Given the description of an element on the screen output the (x, y) to click on. 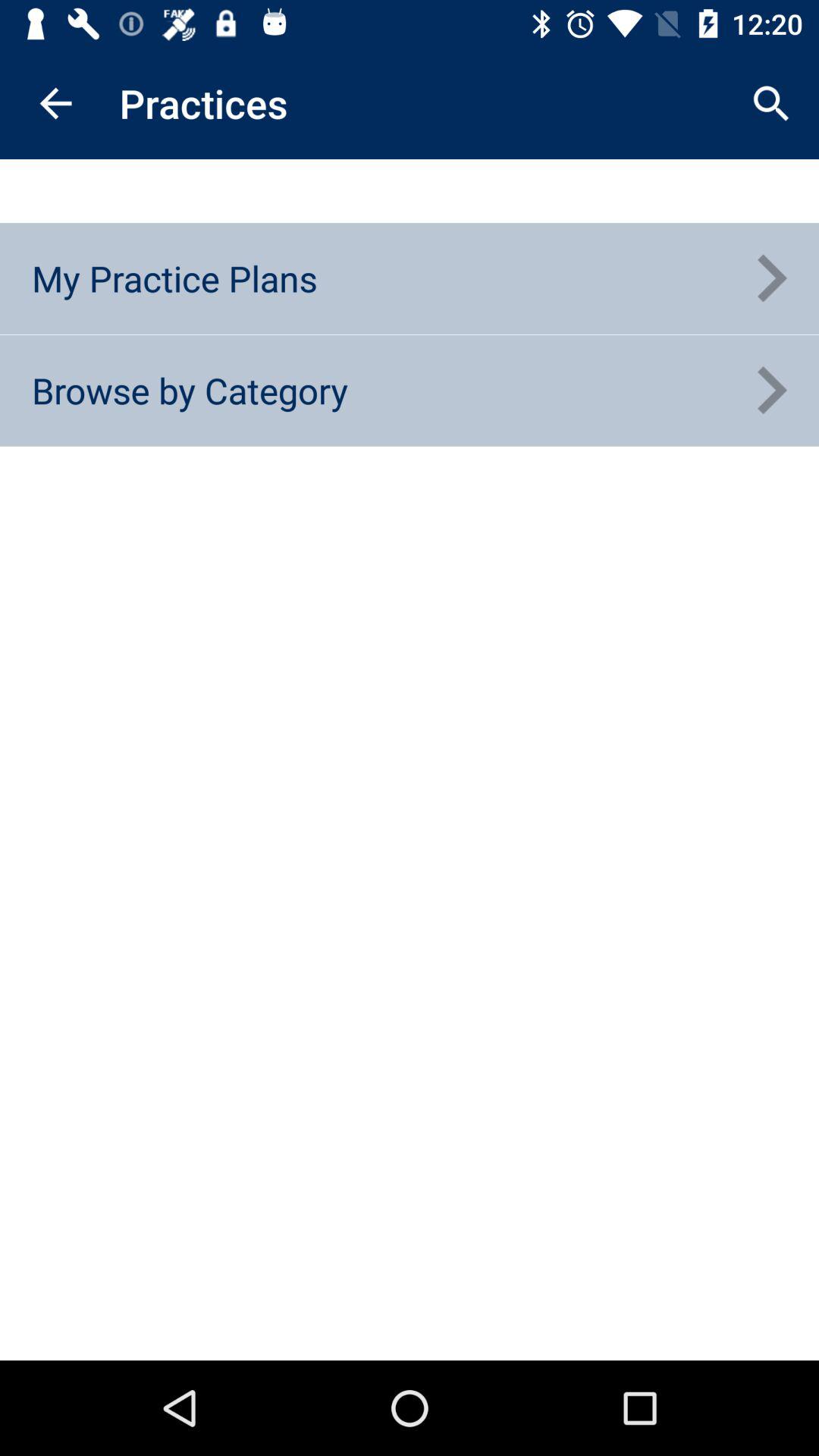
open icon next to practices icon (55, 103)
